Given the description of an element on the screen output the (x, y) to click on. 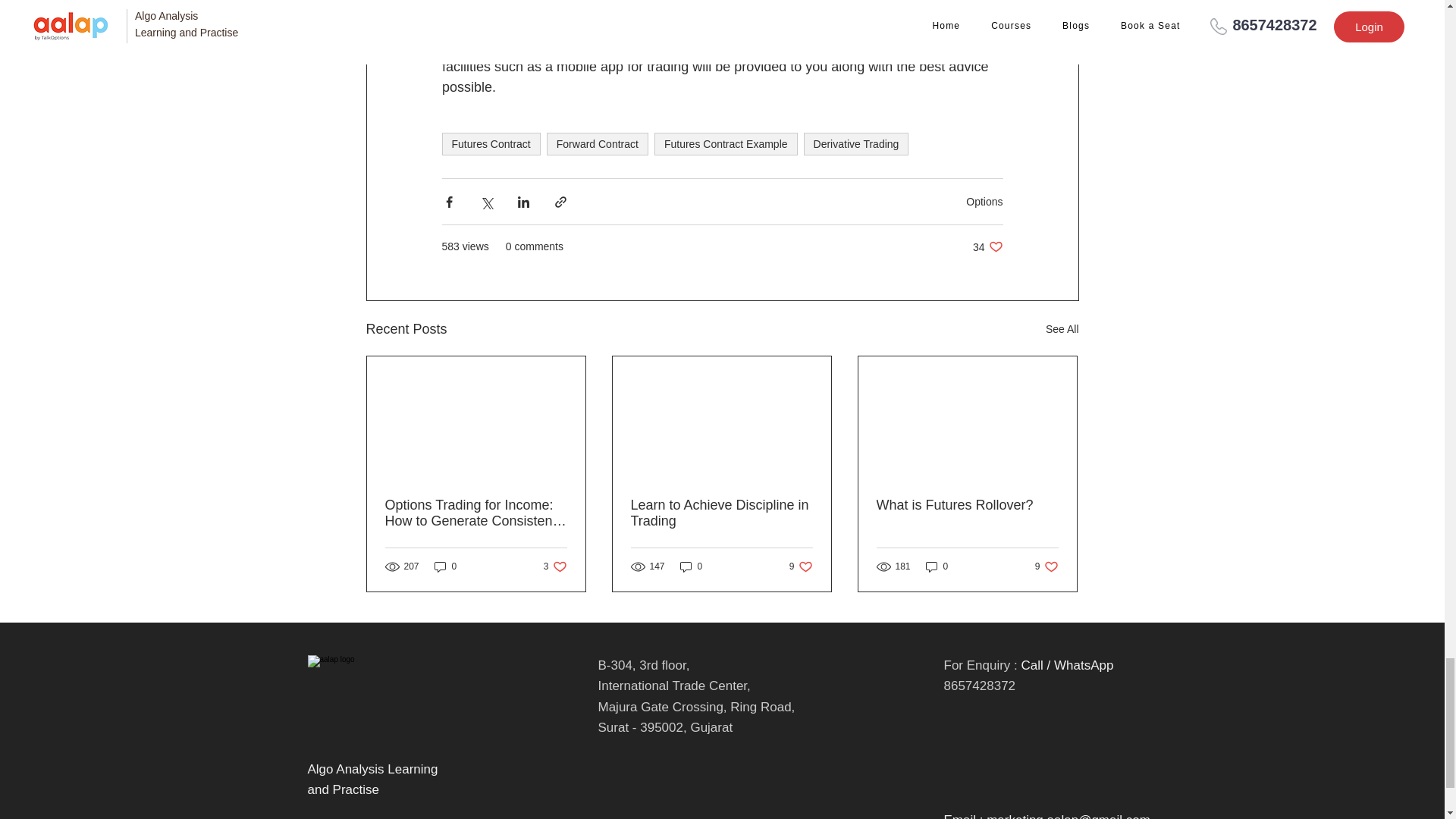
0 (691, 566)
0 (445, 566)
Derivative Trading (855, 143)
Futures Contract Example (725, 143)
Forward Contract (597, 143)
Learn to Achieve Discipline in Trading (721, 513)
0 (555, 566)
Futures Contract (937, 566)
See All (800, 566)
Options (490, 143)
What is Futures Rollover? (1061, 329)
